Given the description of an element on the screen output the (x, y) to click on. 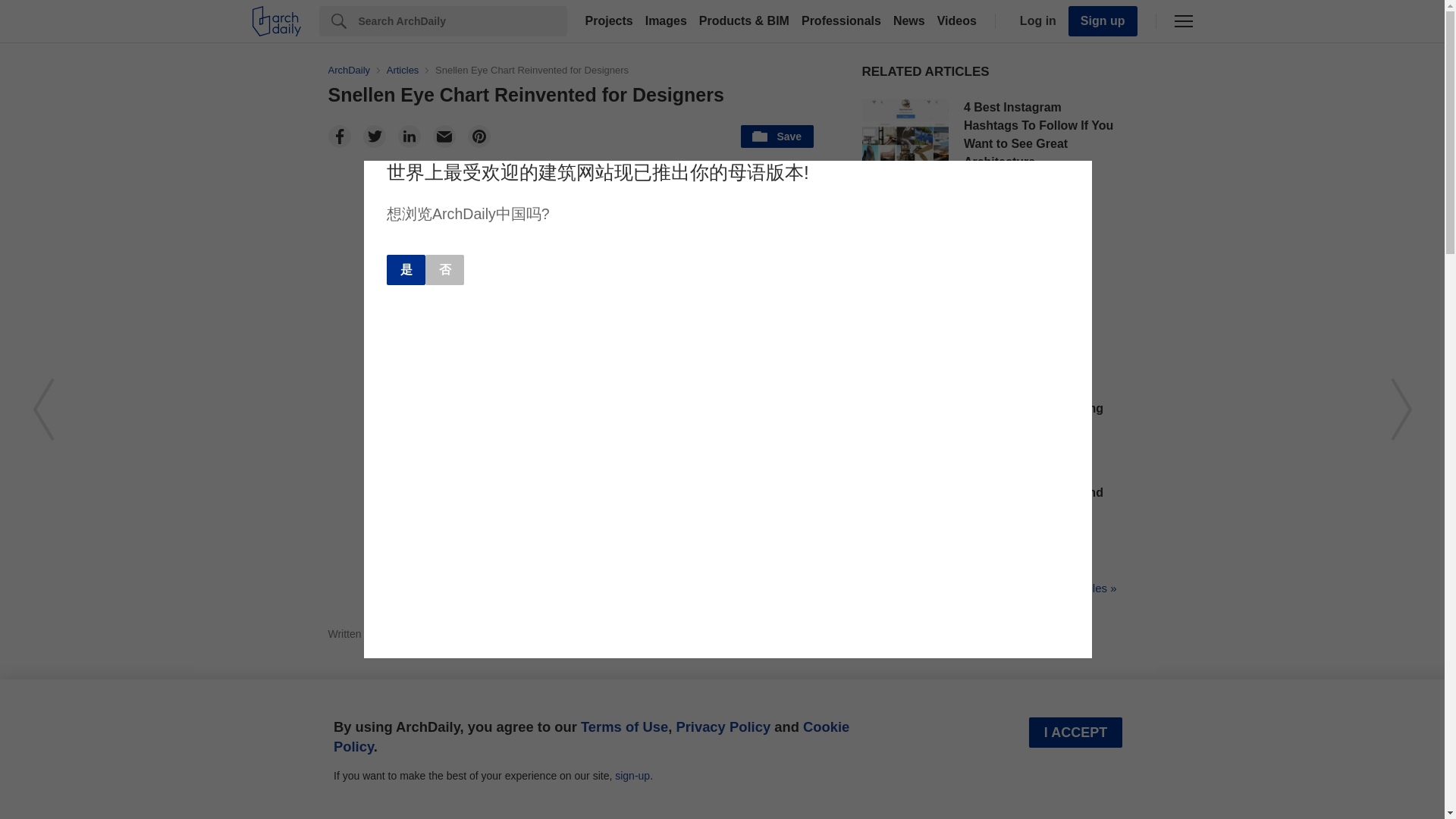
News (908, 21)
Log in (1035, 20)
Sign up (1102, 20)
Projects (609, 21)
Professionals (840, 21)
Images (666, 21)
Videos (956, 21)
